Given the description of an element on the screen output the (x, y) to click on. 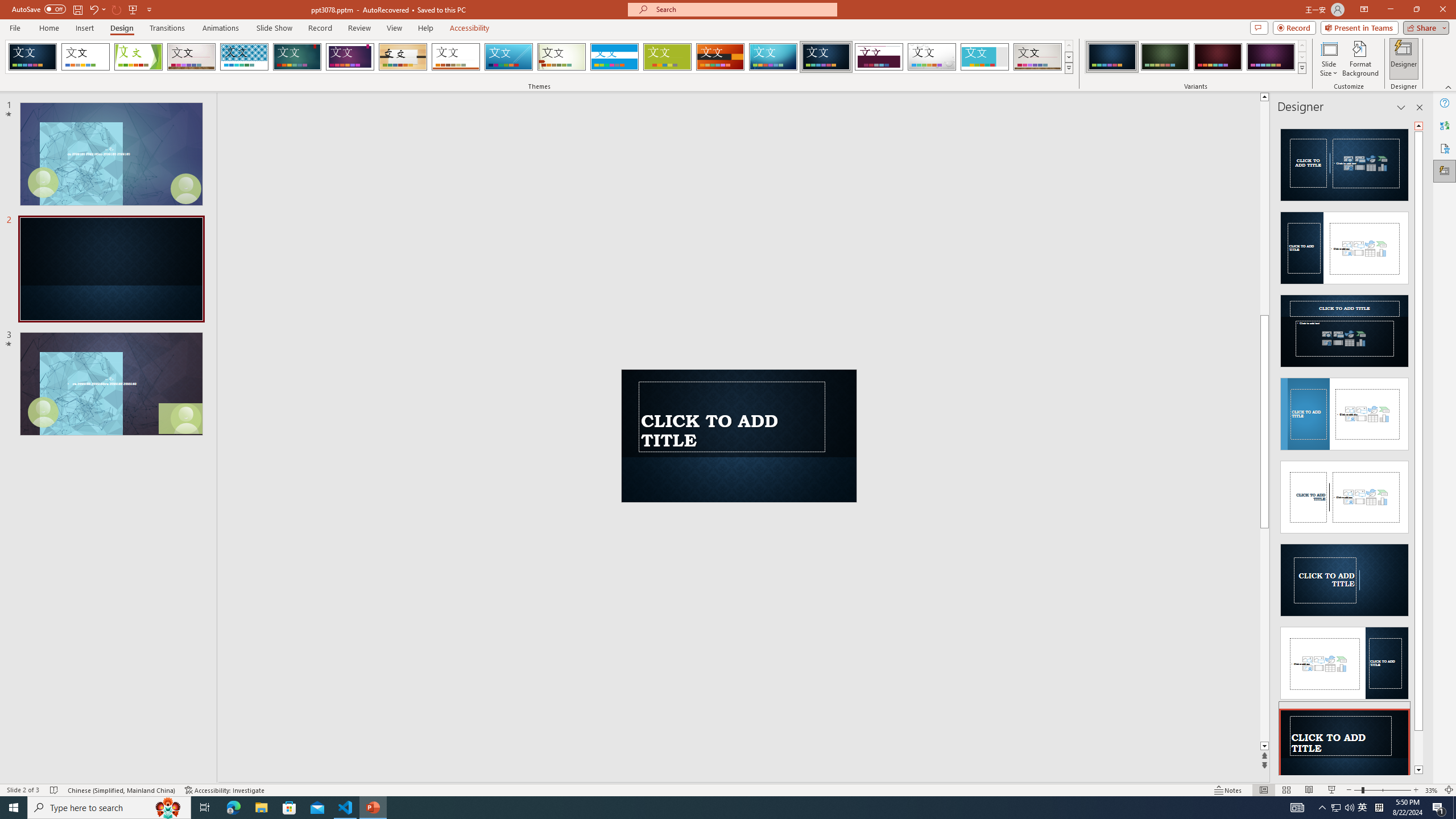
Wisp (561, 56)
Berlin (720, 56)
Decorative Locked (738, 413)
Ion (296, 56)
